Given the description of an element on the screen output the (x, y) to click on. 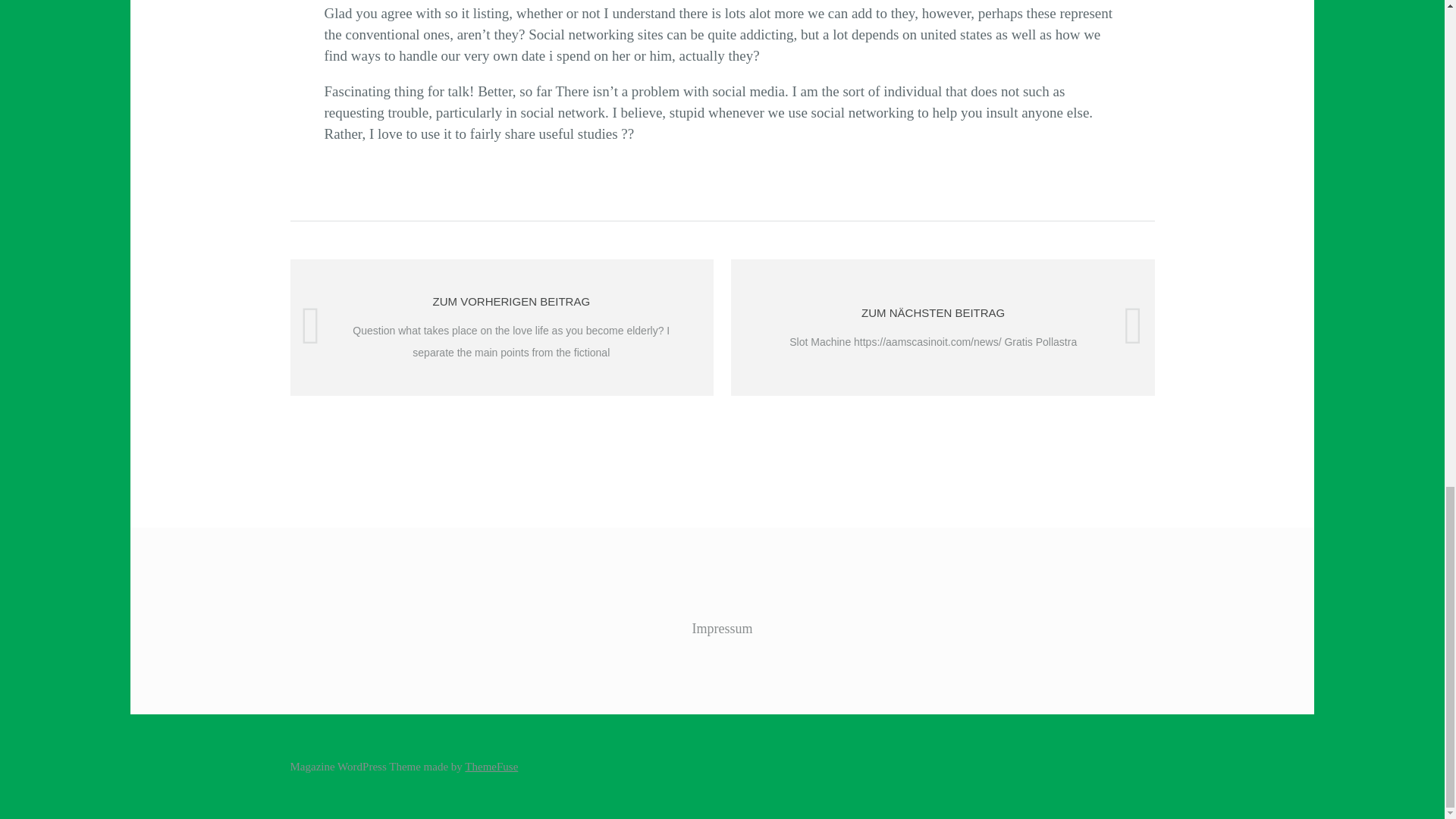
ThemeFuse (491, 766)
Impressum (721, 628)
